Given the description of an element on the screen output the (x, y) to click on. 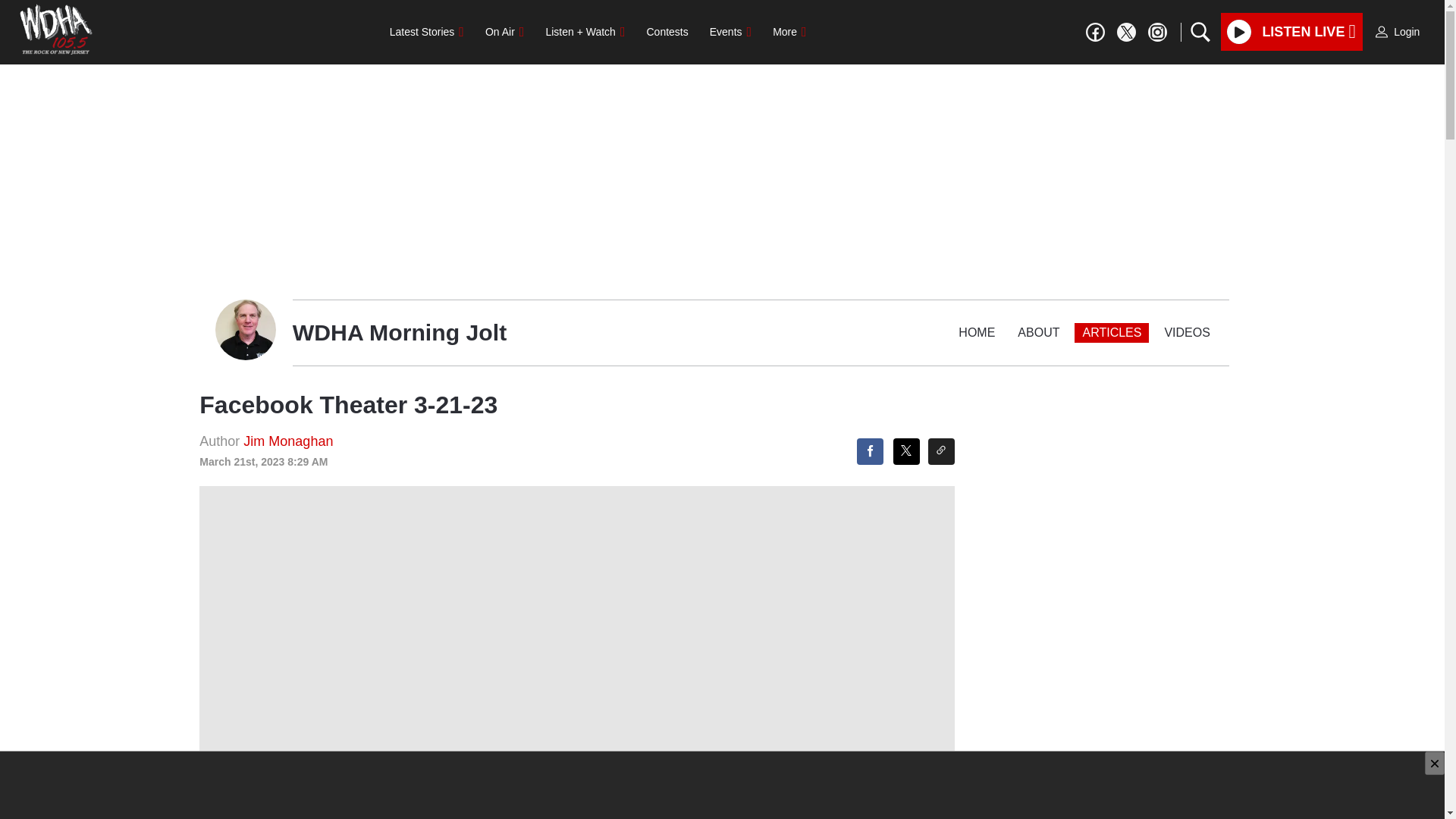
On Air (504, 31)
Contests (666, 31)
Jim Monaghan (288, 441)
Close AdCheckmark indicating ad close (1434, 763)
Latest Stories (426, 31)
Events (729, 31)
